Given the description of an element on the screen output the (x, y) to click on. 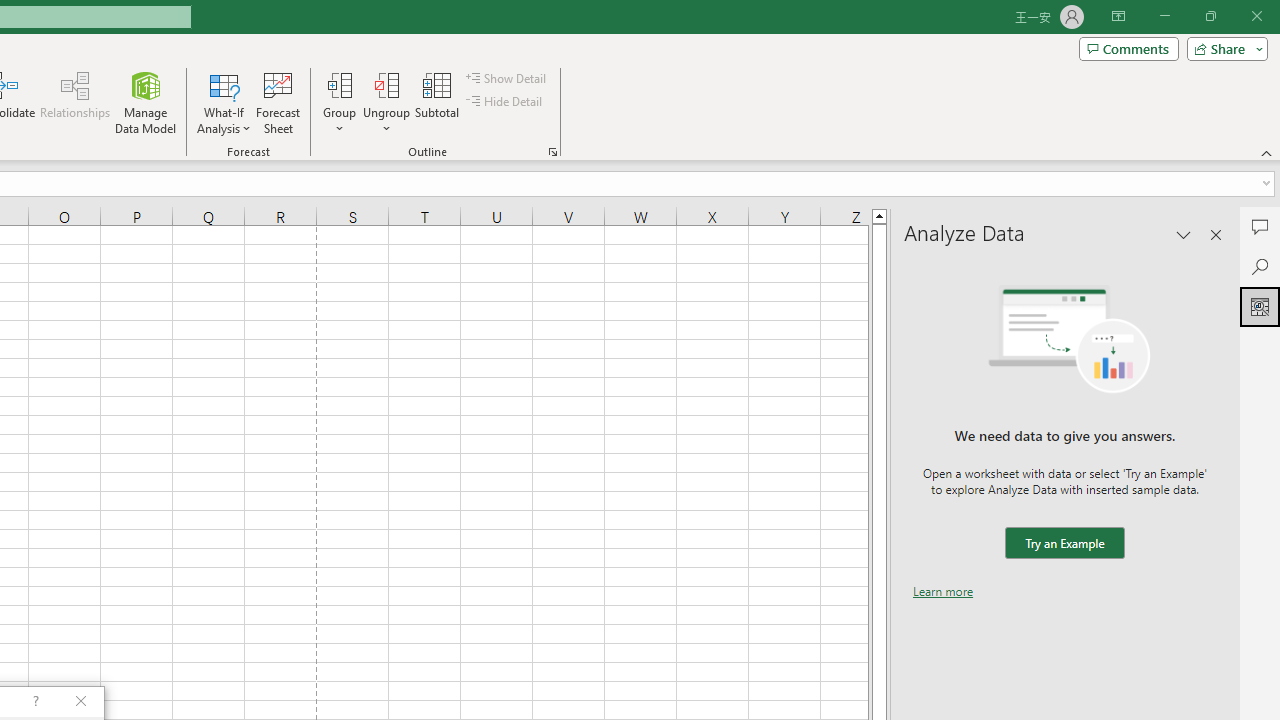
Ribbon Display Options (1118, 16)
Group and Outline Settings (552, 151)
Hide Detail (505, 101)
Manage Data Model (145, 102)
Ungroup... (386, 84)
Share (1223, 48)
Group... (339, 102)
Minimize (1164, 16)
Line up (879, 215)
Relationships (75, 102)
Show Detail (507, 78)
